Given the description of an element on the screen output the (x, y) to click on. 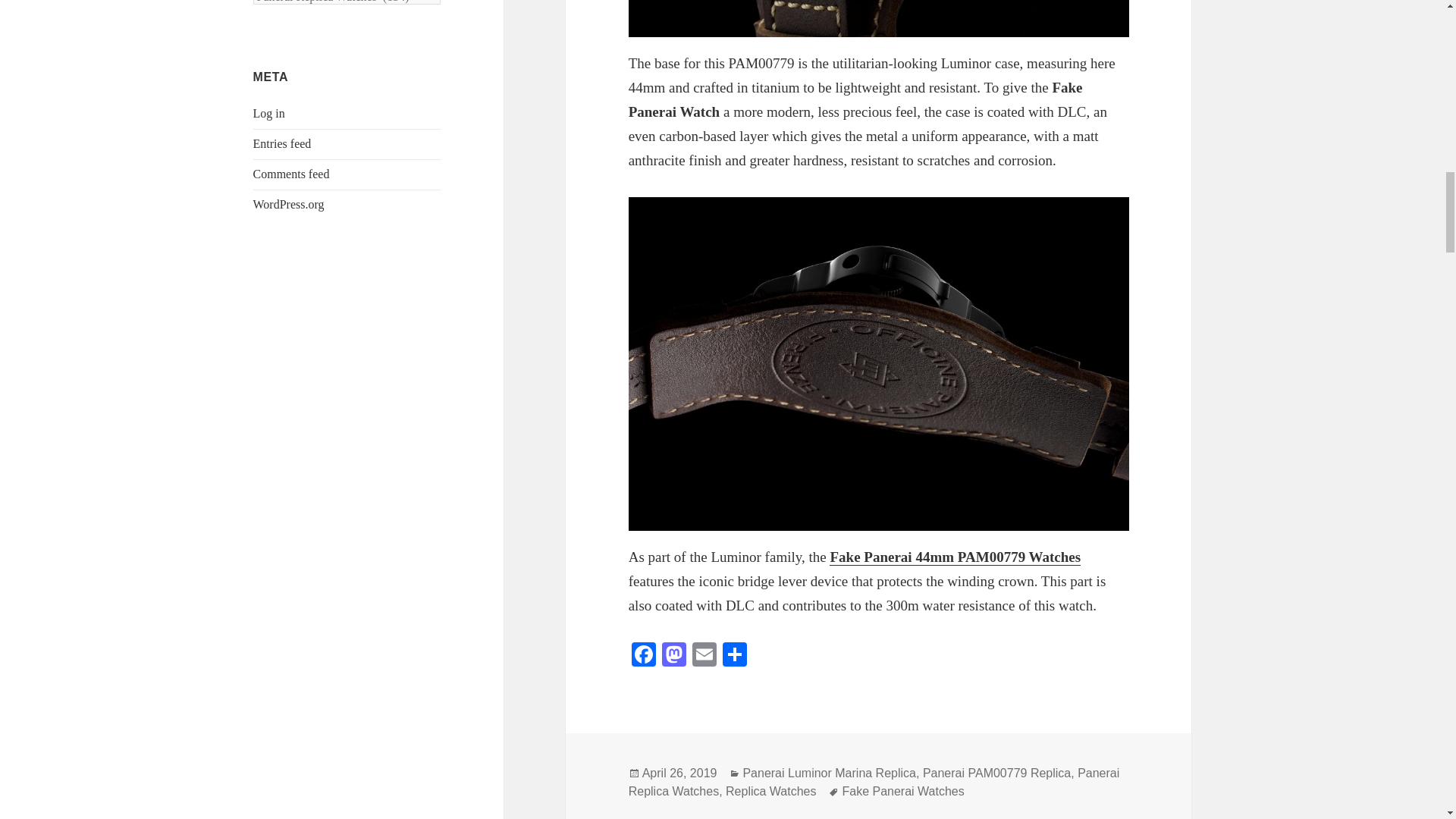
Entries feed (282, 143)
WordPress.org (288, 204)
Log in (269, 113)
Email (703, 656)
Facebook (643, 656)
Comments feed (291, 173)
Facebook (643, 656)
Fake Panerai 44mm PAM00779 Watches (954, 556)
Mastodon (673, 656)
Mastodon (673, 656)
